Given the description of an element on the screen output the (x, y) to click on. 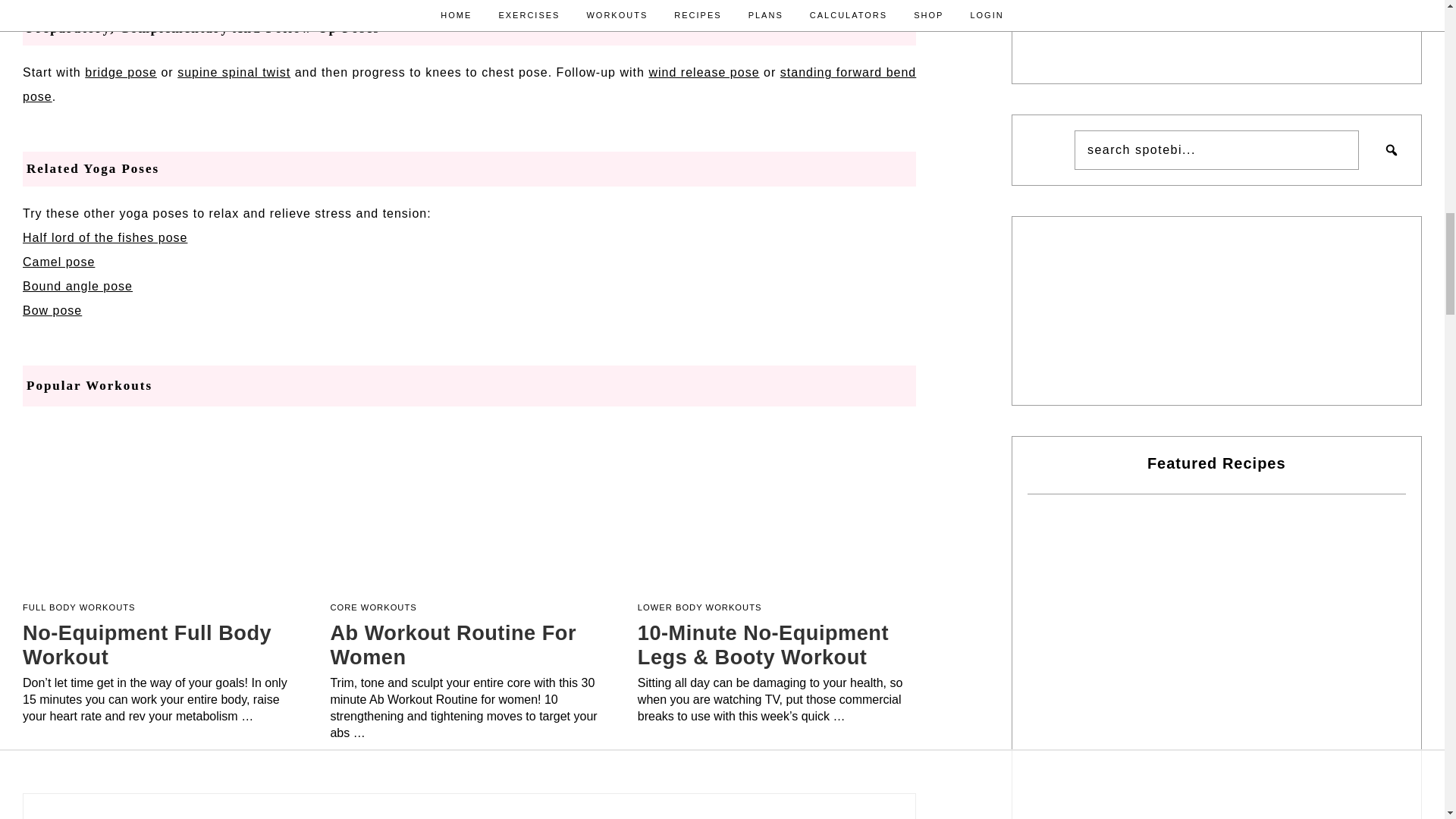
Half lord of the fishes pose (105, 237)
supine spinal twist (233, 72)
Camel pose (58, 261)
bridge pose (120, 72)
standing forward bend pose (469, 84)
wind release pose (702, 72)
